Given the description of an element on the screen output the (x, y) to click on. 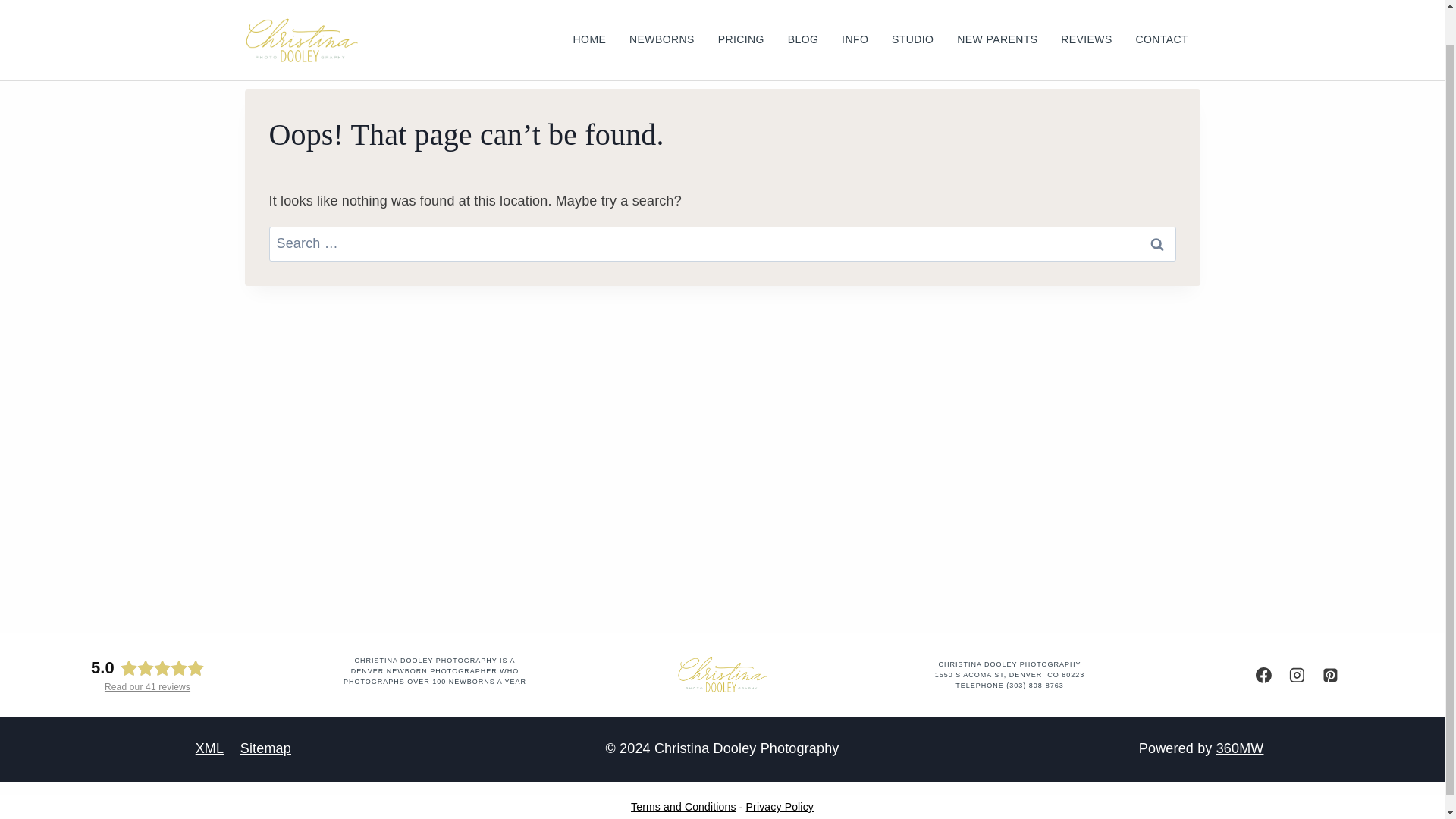
REVIEWS (1086, 10)
Search (1155, 243)
Sitemap (265, 748)
CHRISTINA DOOLEY PHOTOGRAPHY (1008, 664)
STUDIO (912, 10)
Search (1155, 243)
Terms and Conditions (683, 806)
NEWBORNS (661, 10)
HOME (588, 10)
Search (1155, 243)
BLOG (802, 10)
NEW PARENTS (996, 10)
INFO (854, 10)
PRICING (741, 10)
CONTACT (1161, 10)
